Given the description of an element on the screen output the (x, y) to click on. 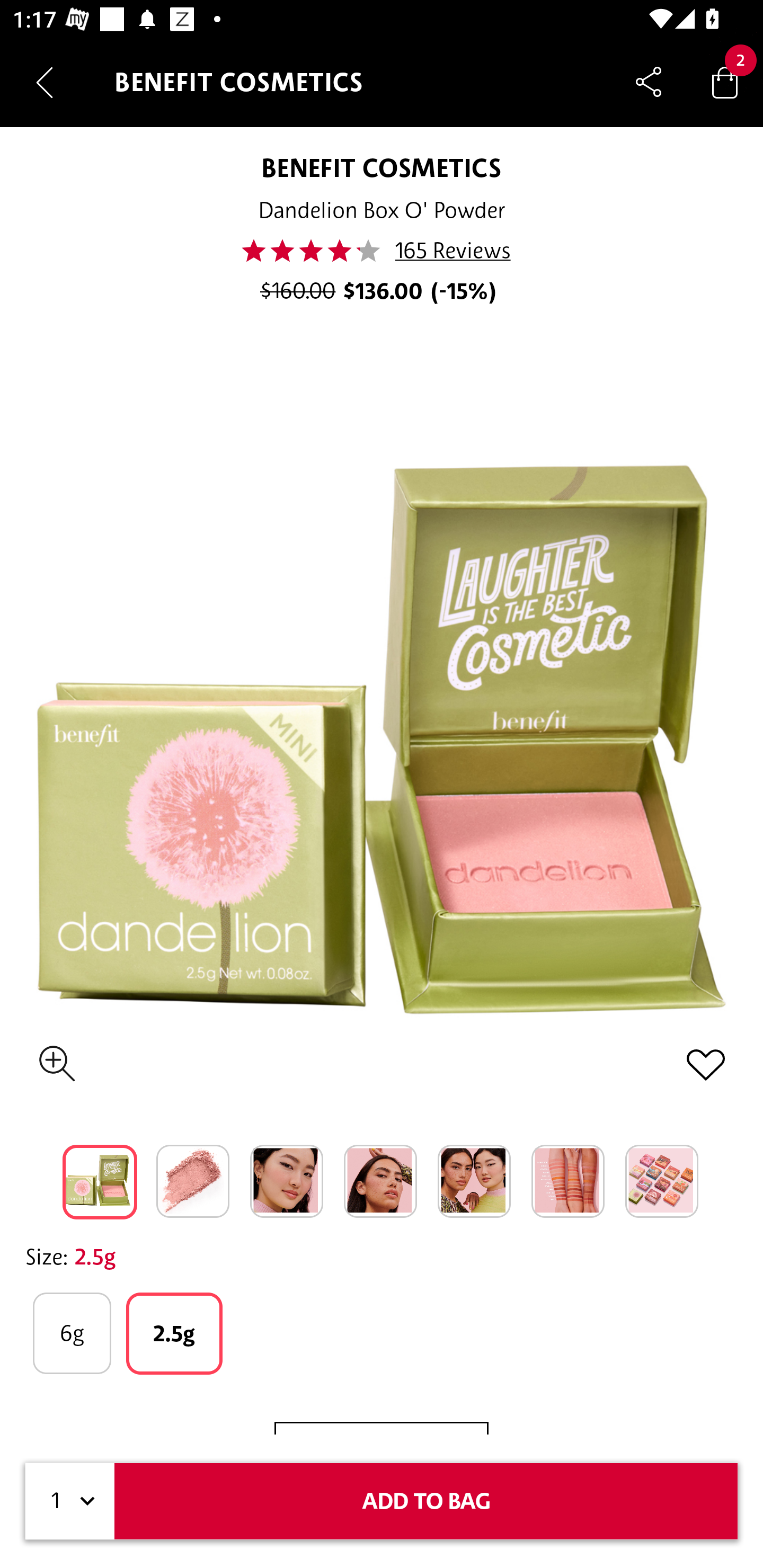
Navigate up (44, 82)
Share (648, 81)
Bag (724, 81)
BENEFIT COSMETICS (381, 167)
42.0 165 Reviews (381, 250)
6g (71, 1332)
2.5g (173, 1333)
1 (69, 1500)
ADD TO BAG (425, 1500)
